Given the description of an element on the screen output the (x, y) to click on. 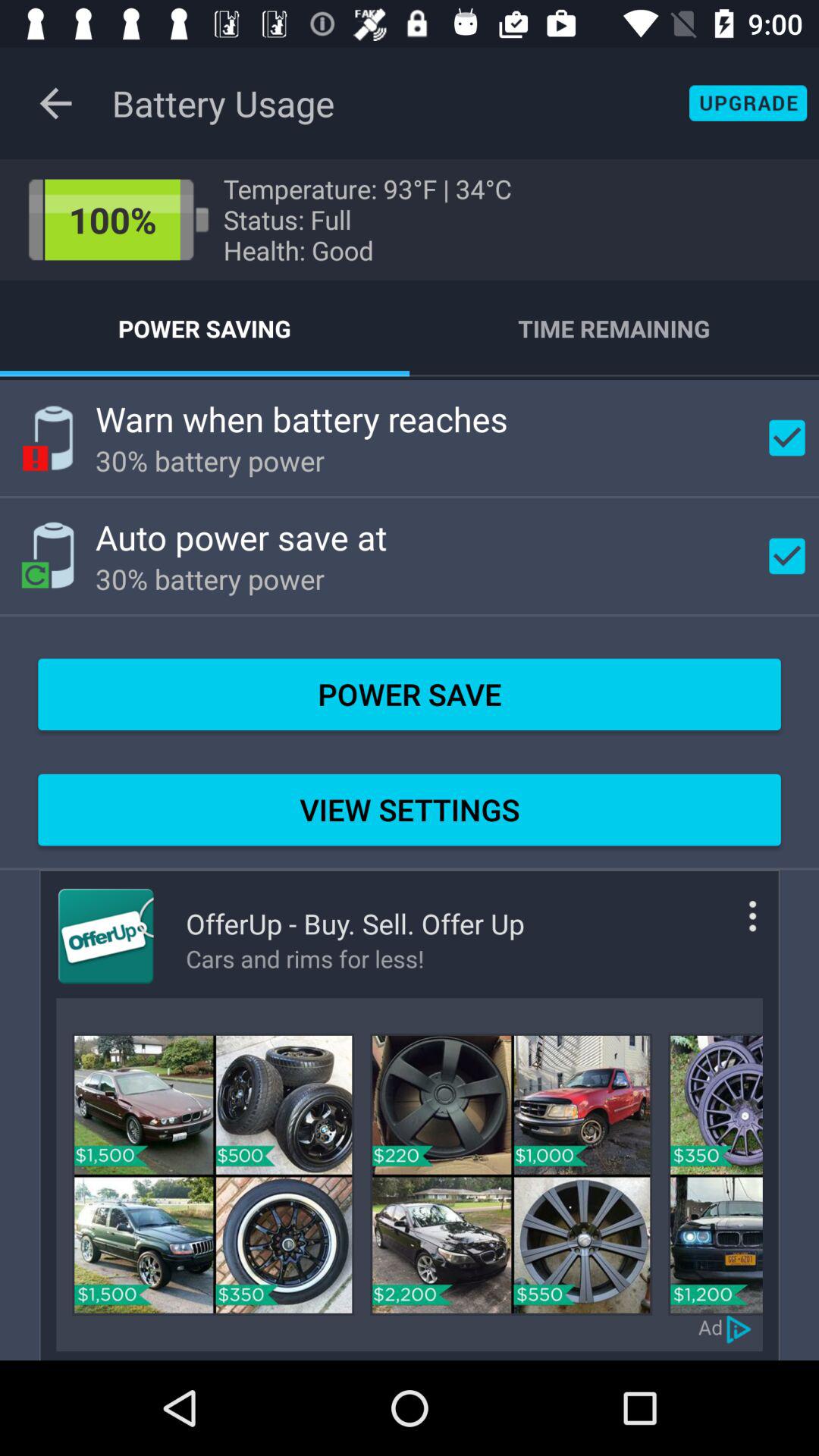
further options for this advertisement (730, 928)
